Given the description of an element on the screen output the (x, y) to click on. 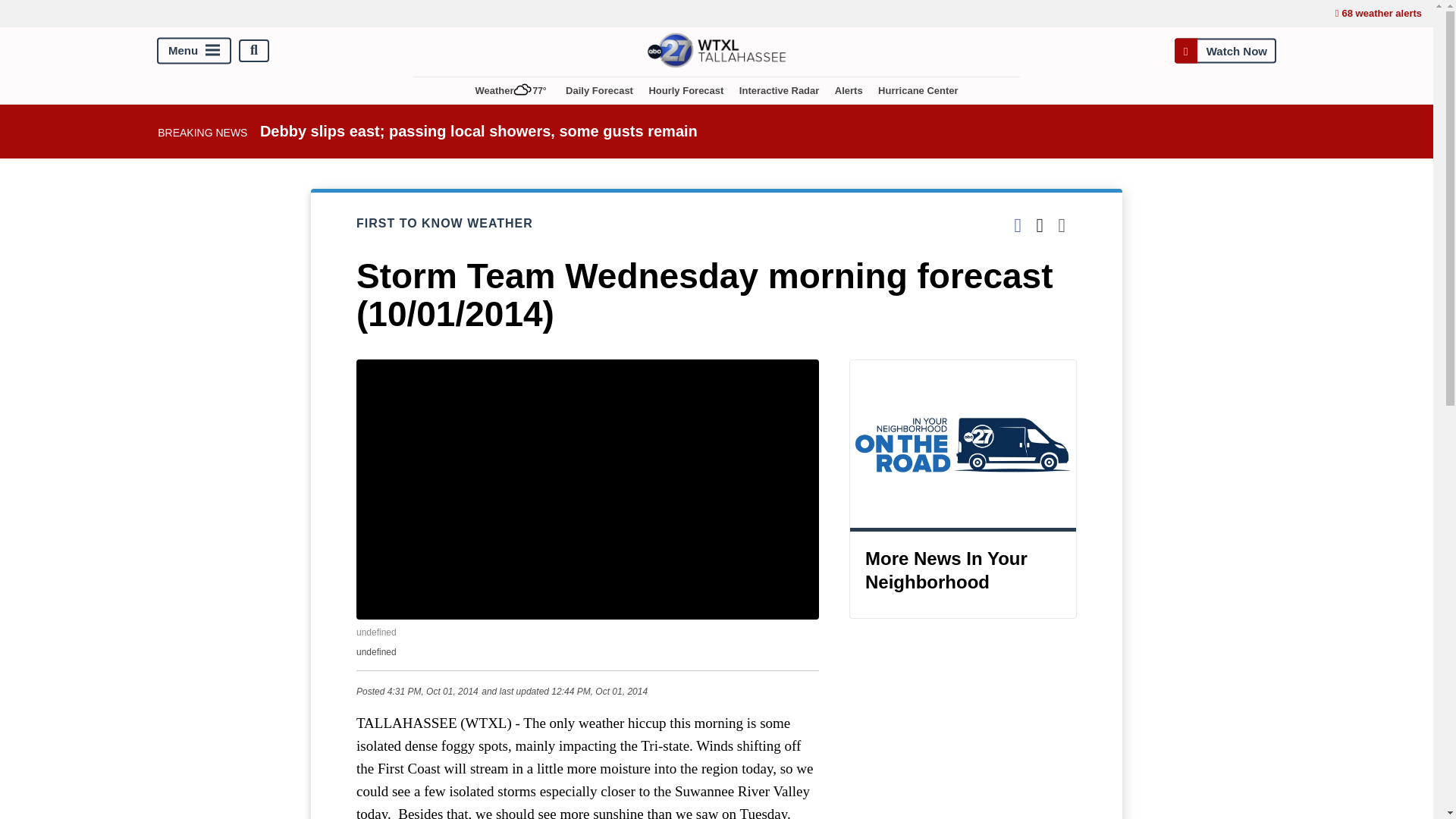
Menu (194, 49)
Watch Now (1224, 50)
